Given the description of an element on the screen output the (x, y) to click on. 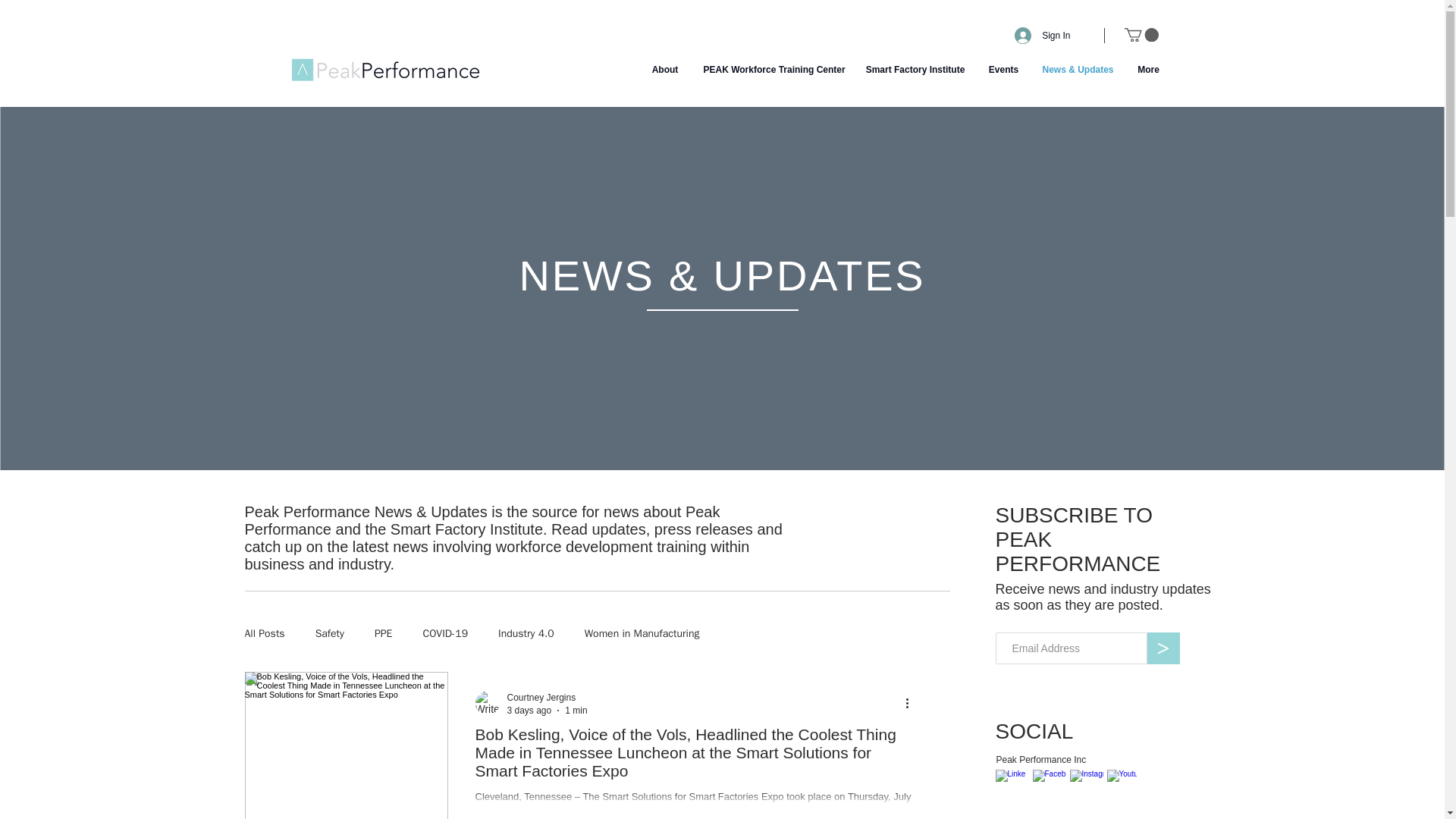
PPE (383, 633)
PEAK Workforce Training Center (772, 69)
Women in Manufacturing (642, 633)
About (666, 69)
1 min (575, 710)
Sign In (1042, 35)
COVID-19 (444, 633)
Industry 4.0 (525, 633)
Smart Factory Institute (914, 69)
Courtney Jergins (540, 697)
All Posts (263, 633)
Safety (329, 633)
3 days ago (528, 710)
